Given the description of an element on the screen output the (x, y) to click on. 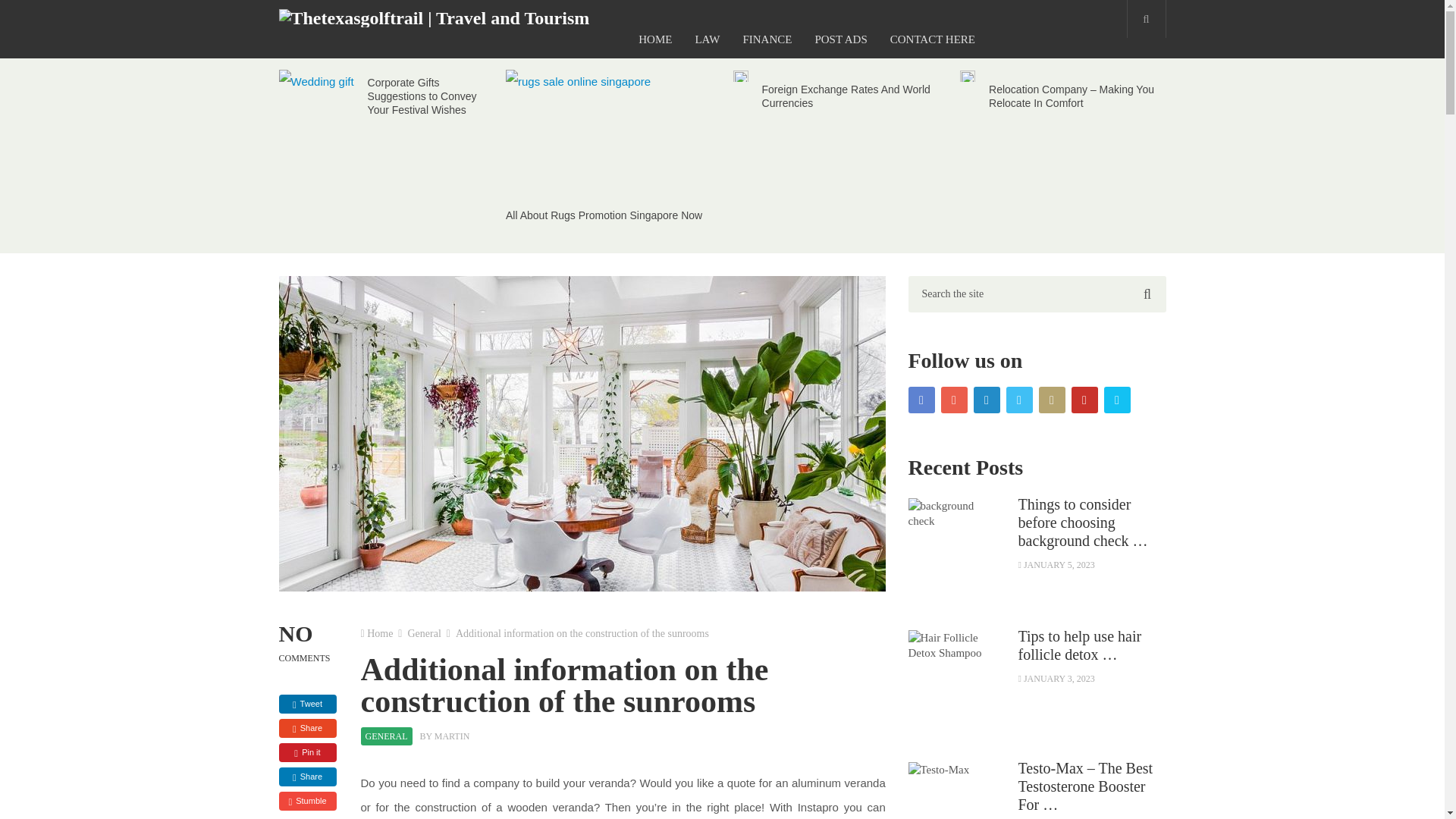
Tweet (307, 703)
Foreign Exchange Rates And World Currencies (845, 95)
All About Rugs Promotion Singapore Now (603, 215)
FINANCE (766, 39)
POST ADS (840, 39)
MARTIN (451, 736)
GENERAL (386, 736)
Foreign Exchange Rates And World Currencies (845, 95)
Share (307, 728)
Corporate Gifts Suggestions to Convey Your Festival Wishes (422, 96)
All About Rugs Promotion Singapore Now (603, 215)
Home (379, 633)
Share (307, 776)
Pin it (307, 752)
Corporate Gifts Suggestions to Convey Your Festival Wishes (422, 96)
